Given the description of an element on the screen output the (x, y) to click on. 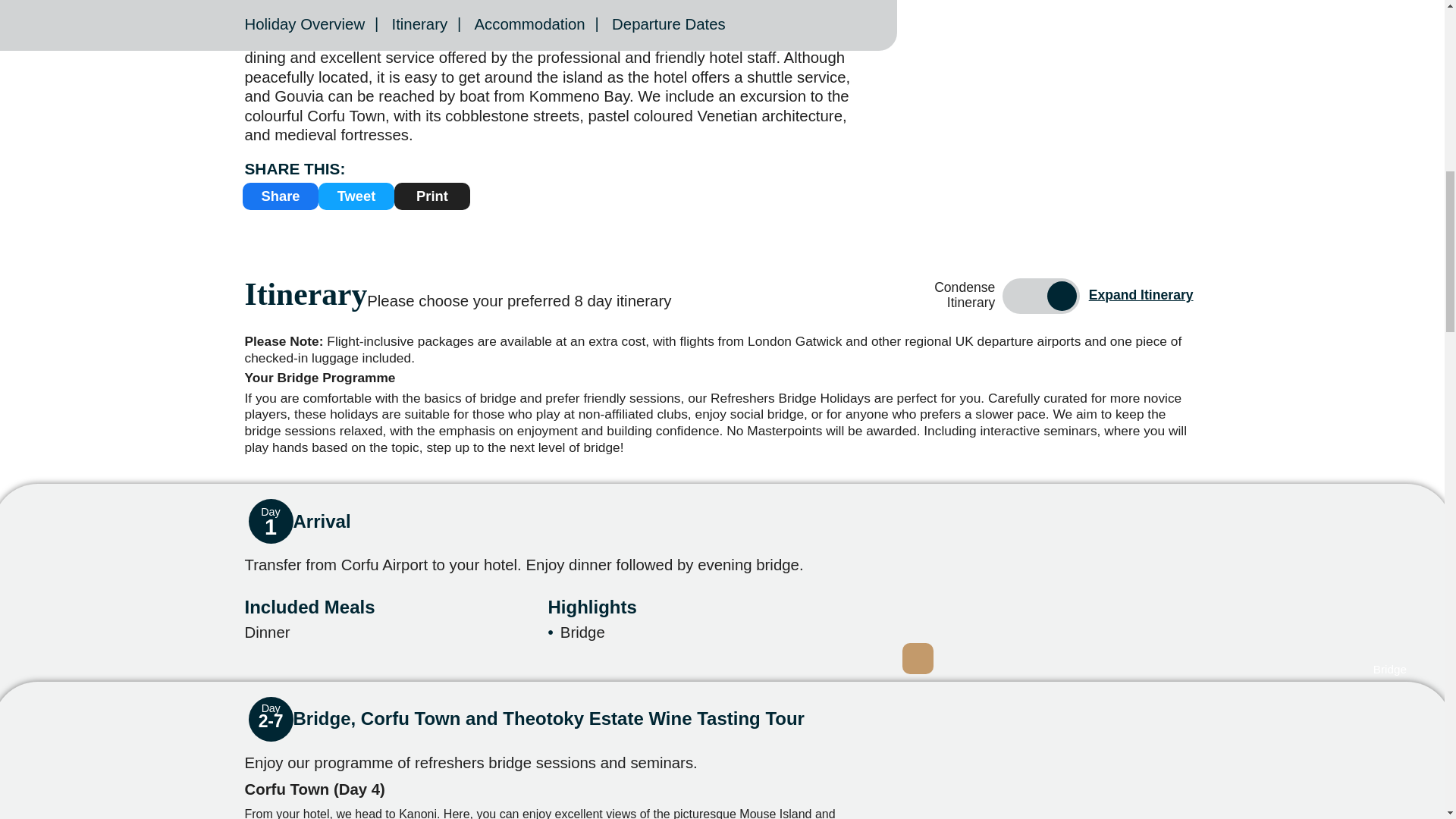
on (1040, 296)
